Given the description of an element on the screen output the (x, y) to click on. 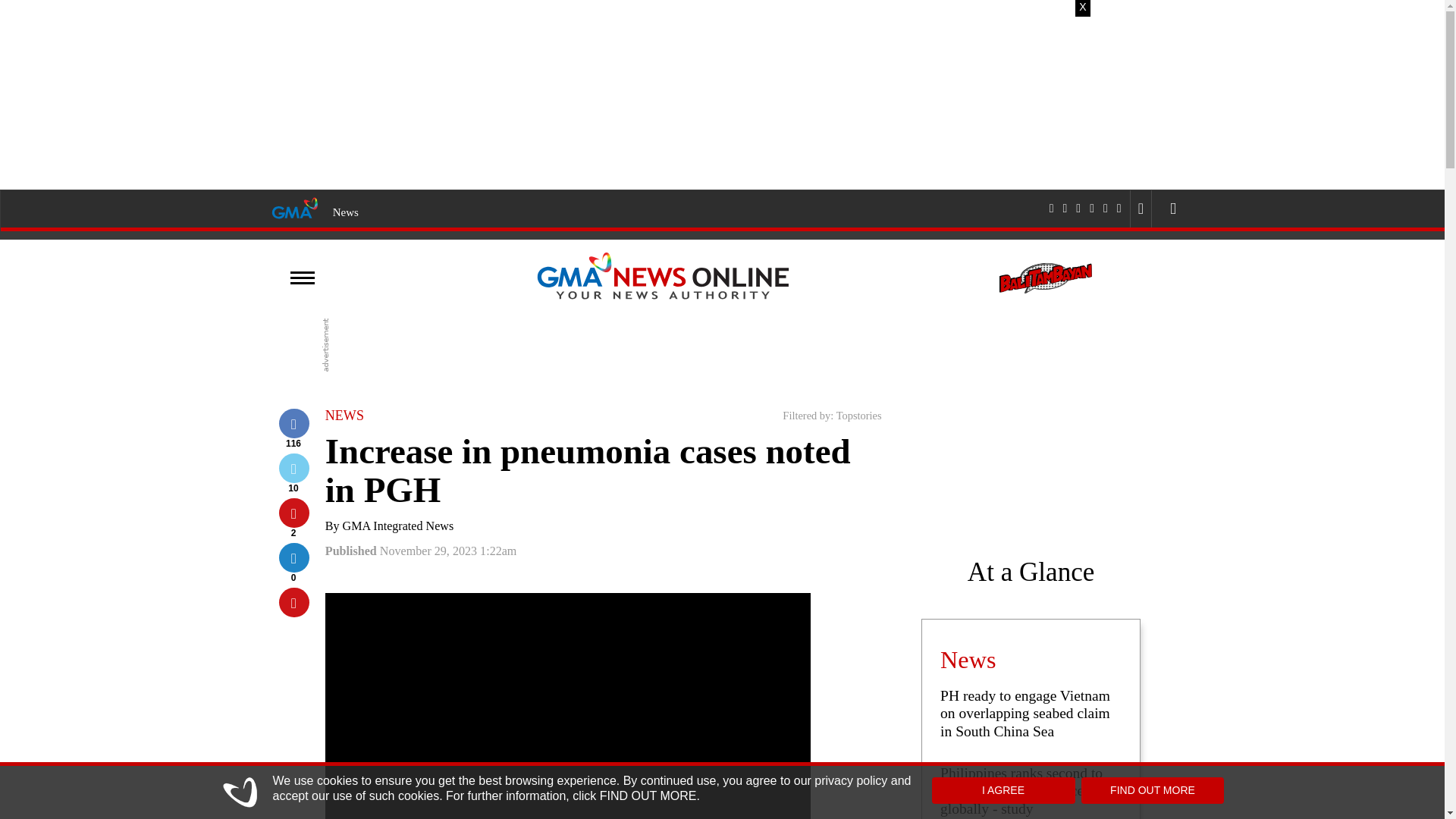
GMA Network (294, 207)
News (345, 212)
FIND OUT MORE (1152, 790)
News - GMA Network (345, 212)
I AGREE (1003, 790)
